Given the description of an element on the screen output the (x, y) to click on. 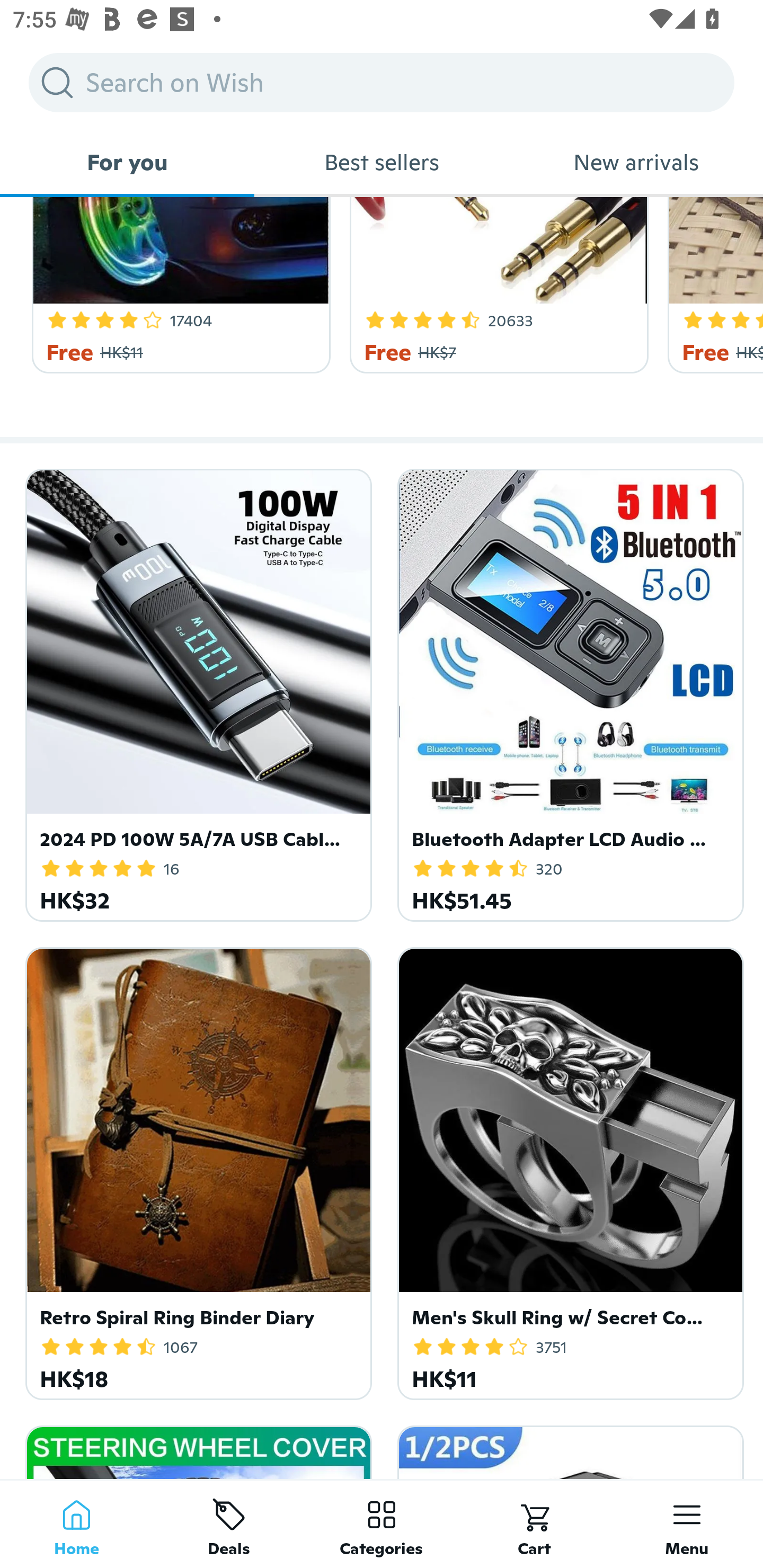
Search on Wish (381, 82)
For you (127, 161)
Best sellers (381, 161)
New arrivals (635, 161)
3.8 Star Rating 17404 Free HK$11 (177, 285)
4.3 Star Rating 20633 Free HK$7 (495, 285)
Home (76, 1523)
Deals (228, 1523)
Categories (381, 1523)
Cart (533, 1523)
Menu (686, 1523)
